Given the description of an element on the screen output the (x, y) to click on. 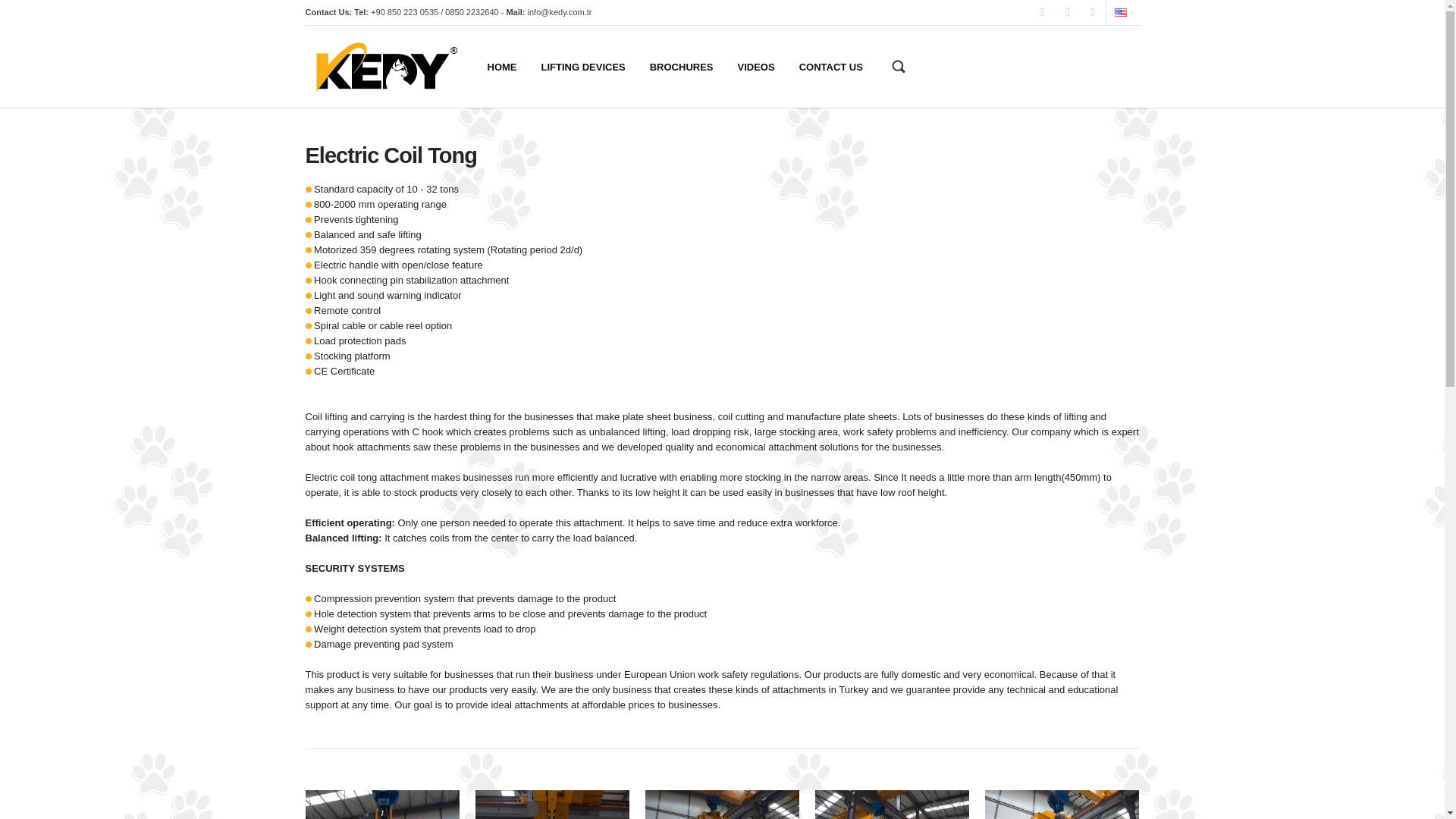
CONTACT US (831, 66)
BROCHURES (681, 66)
LIFTING DEVICES (583, 66)
